Given the description of an element on the screen output the (x, y) to click on. 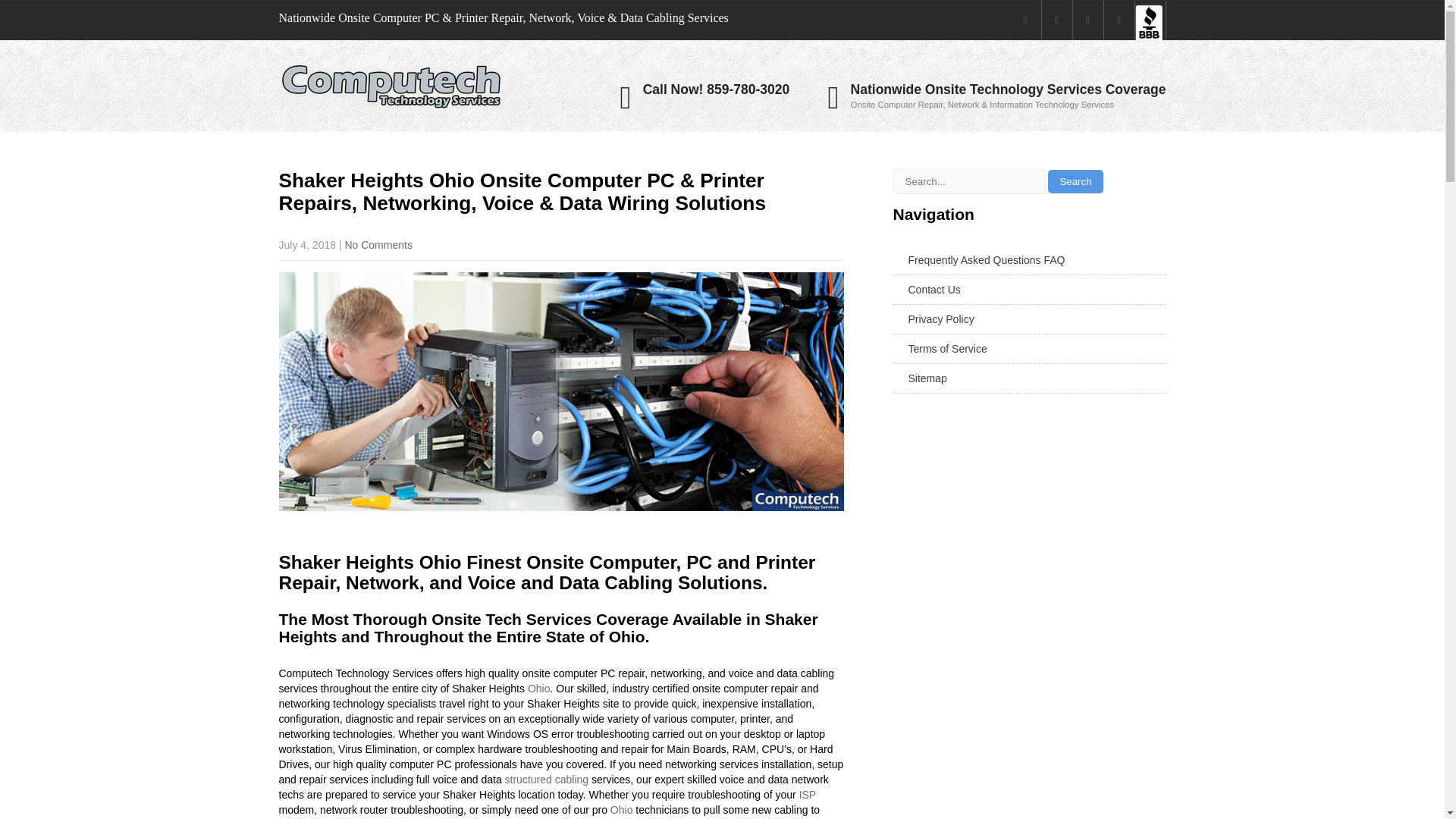
Search (1075, 181)
Search (1075, 181)
No Comments (377, 244)
structured cabling (547, 779)
ISP (807, 794)
Ohio (538, 688)
Ohio (621, 809)
